Given the description of an element on the screen output the (x, y) to click on. 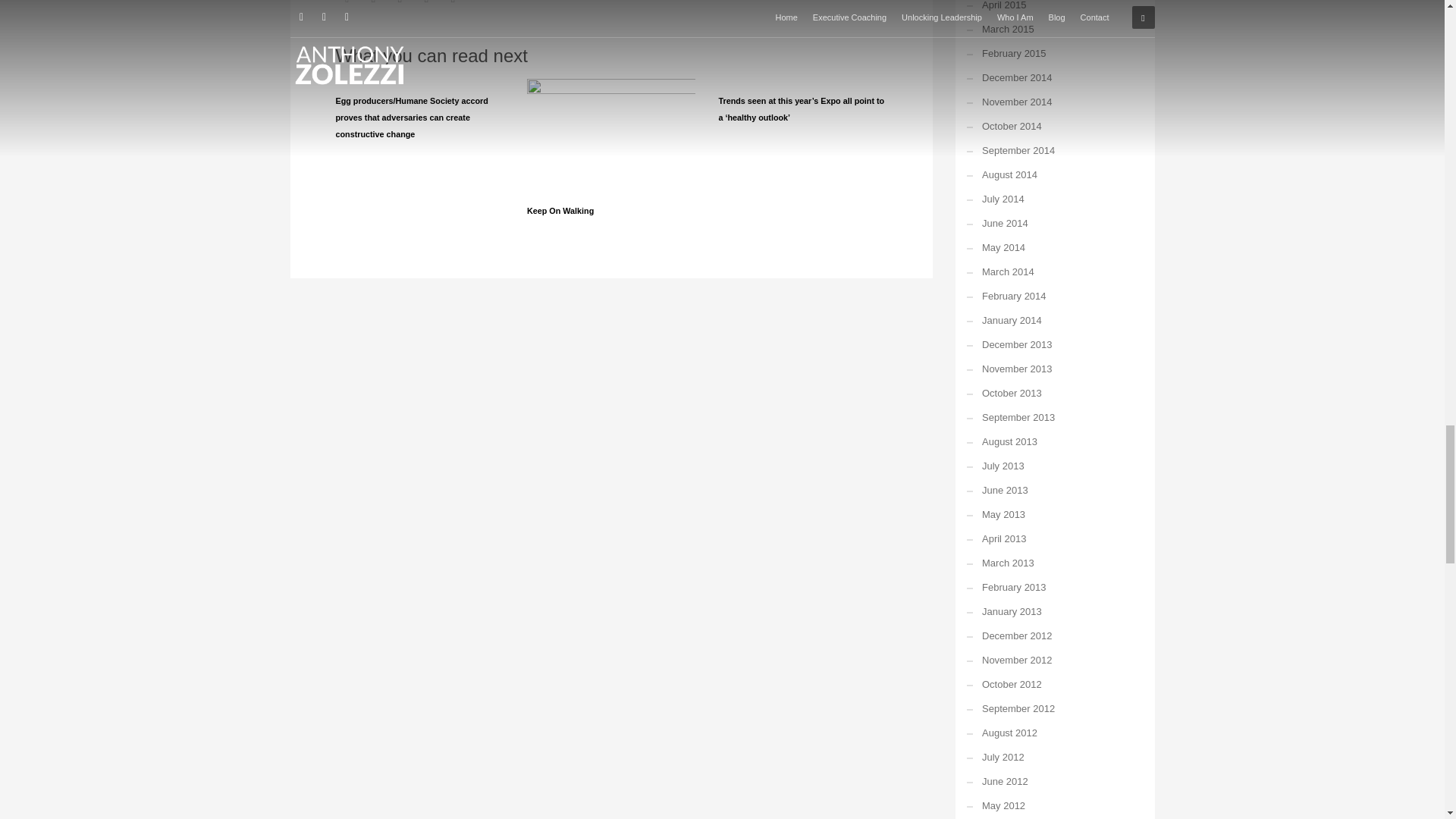
SHARE ON FACEBOOK (373, 4)
SHARE ON GPLUS (399, 4)
SHARE ON MAIL (452, 4)
SHARE ON TWITTER (346, 5)
SHARE ON PINTEREST (426, 4)
